Given the description of an element on the screen output the (x, y) to click on. 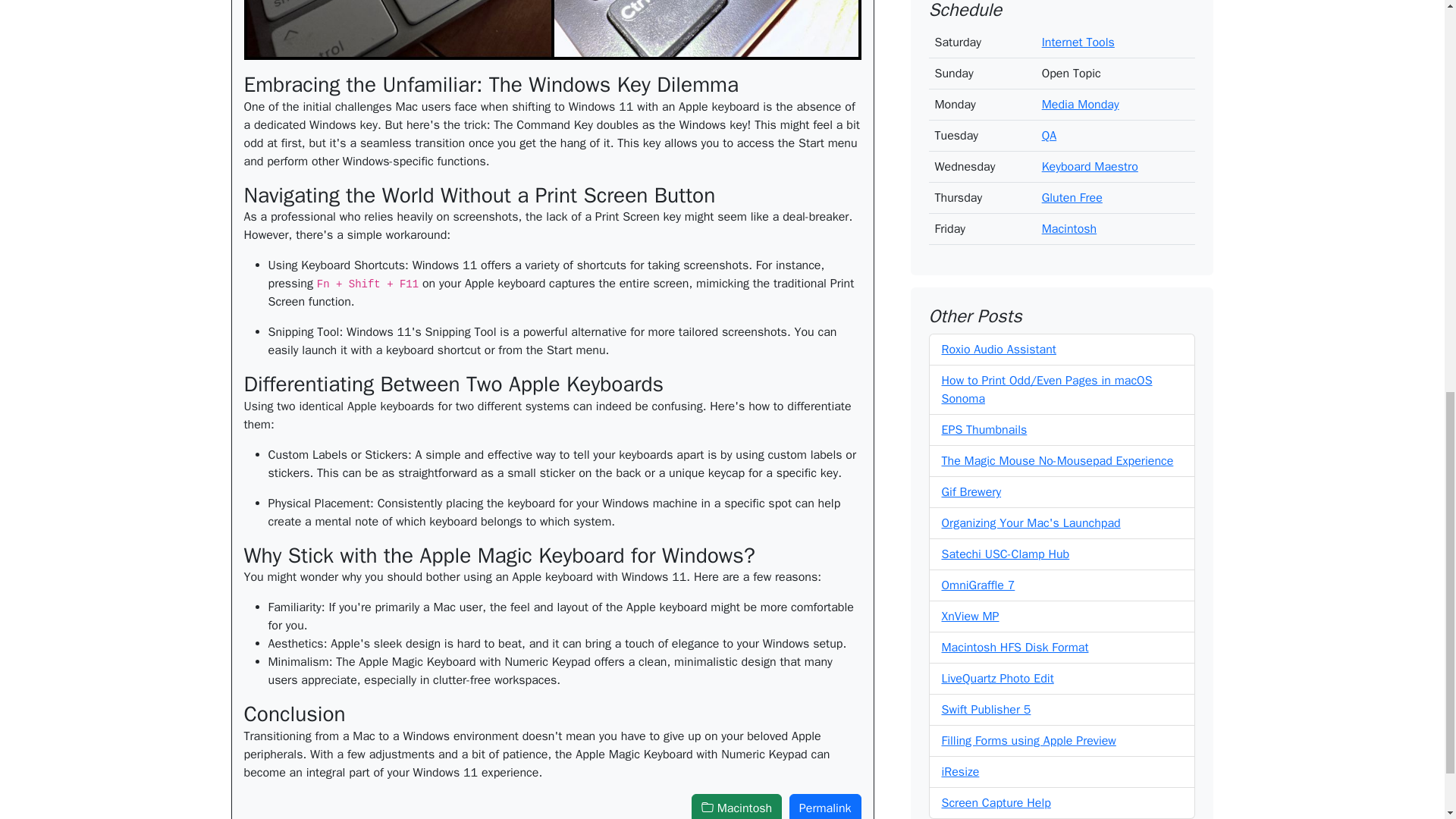
Satechi USC-Clamp Hub (1006, 280)
LiveQuartz Photo Edit (998, 404)
XnView MP (970, 342)
The Magic Mouse No-Mousepad Experience (1057, 186)
EPS Thumbnails (984, 155)
Organizing Your Mac's Launchpad (1031, 249)
Macintosh HFS Disk Format (1015, 373)
Screen Capture Help (996, 529)
Permalink (825, 806)
Roxio Audio Assistant (999, 75)
